Given the description of an element on the screen output the (x, y) to click on. 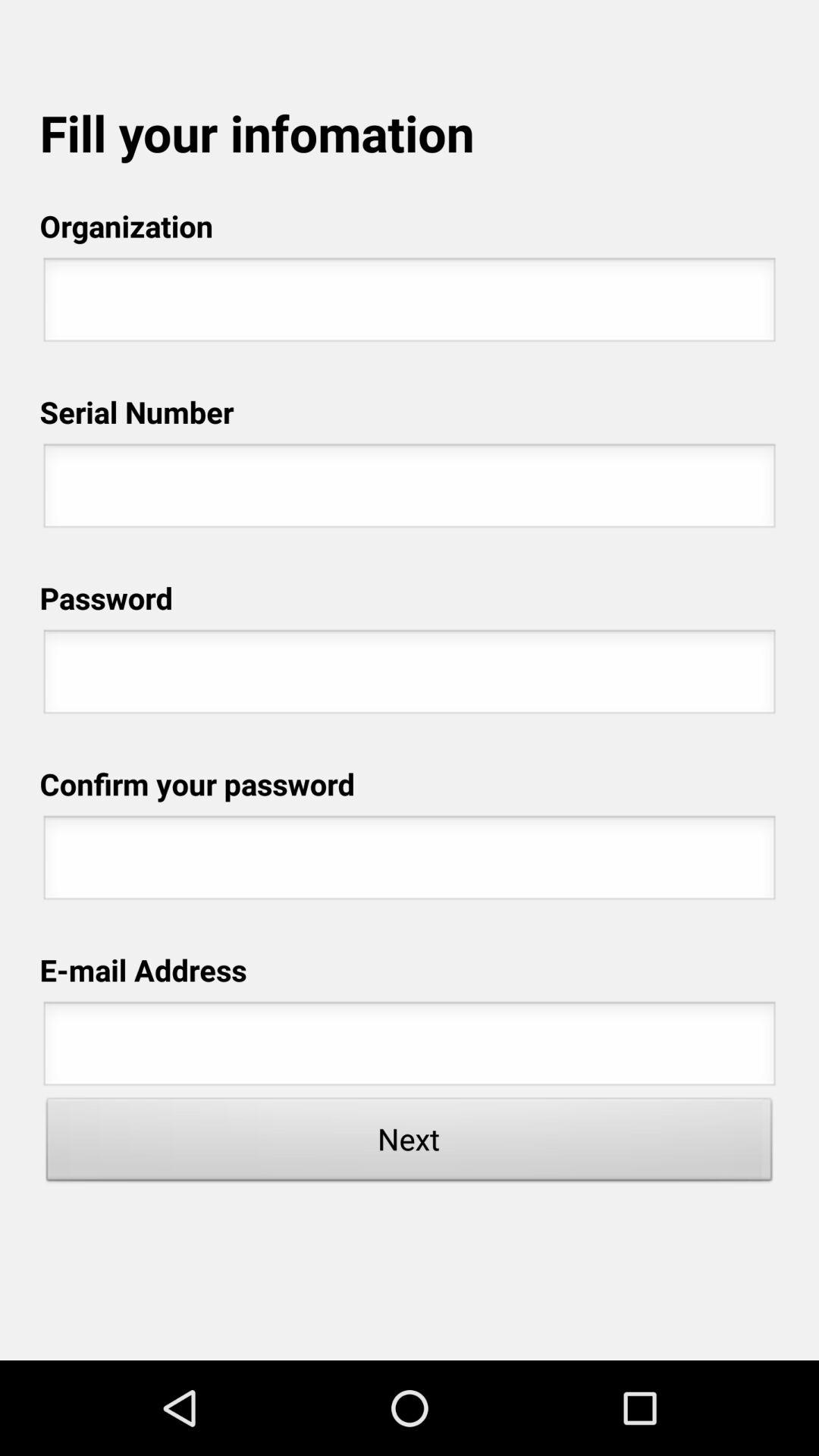
organization (409, 304)
